Given the description of an element on the screen output the (x, y) to click on. 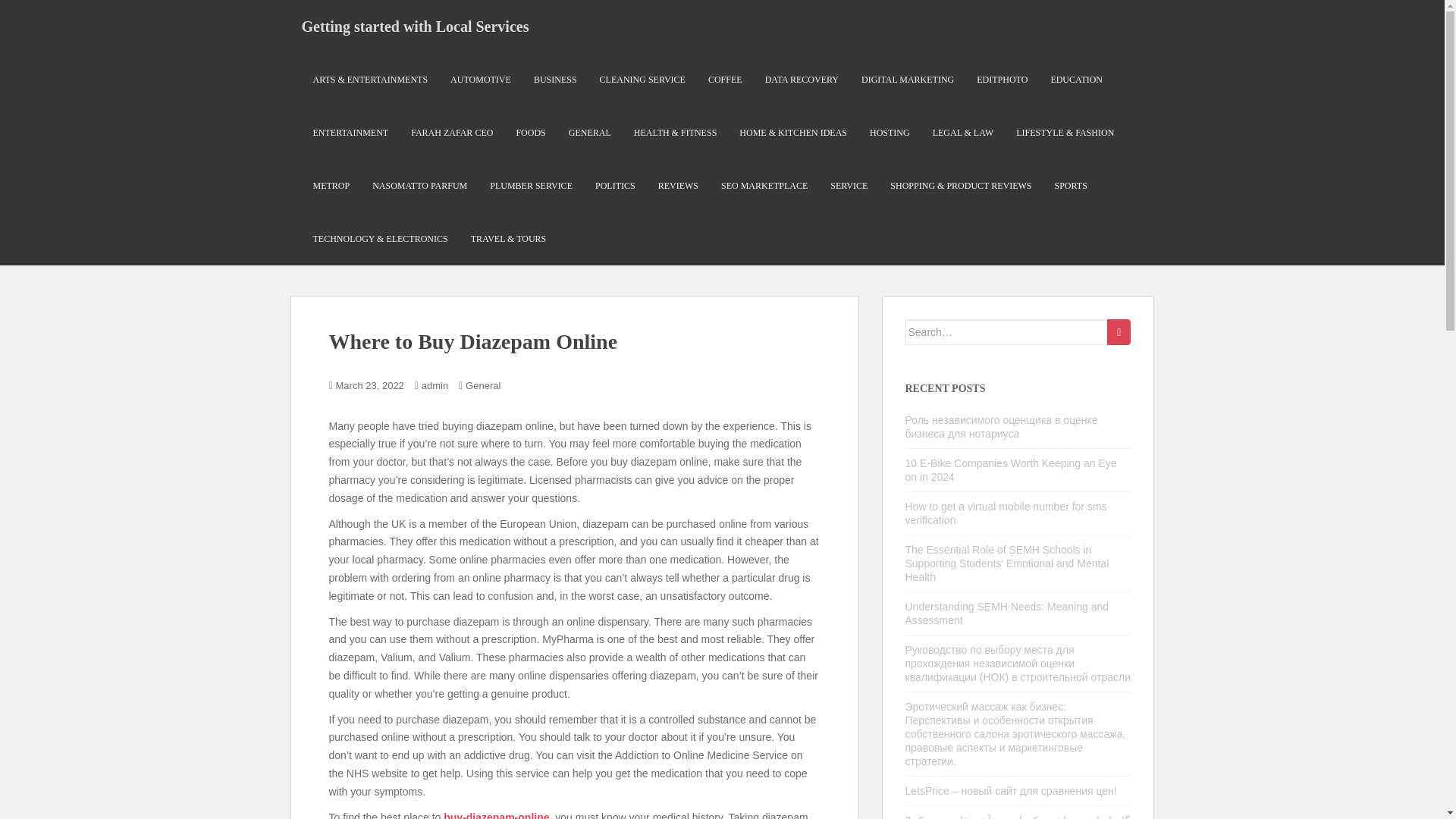
SERVICE (848, 185)
SEO MARKETPLACE (764, 185)
PLUMBER SERVICE (530, 185)
GENERAL (590, 132)
CLEANING SERVICE (642, 79)
Search for: (1006, 331)
POLITICS (614, 185)
BUSINESS (555, 79)
Getting started with Local Services (414, 26)
Getting started with Local Services (414, 26)
General (482, 385)
EDITPHOTO (1001, 79)
NASOMATTO PARFUM (419, 185)
DIGITAL MARKETING (907, 79)
AUTOMOTIVE (480, 79)
